Given the description of an element on the screen output the (x, y) to click on. 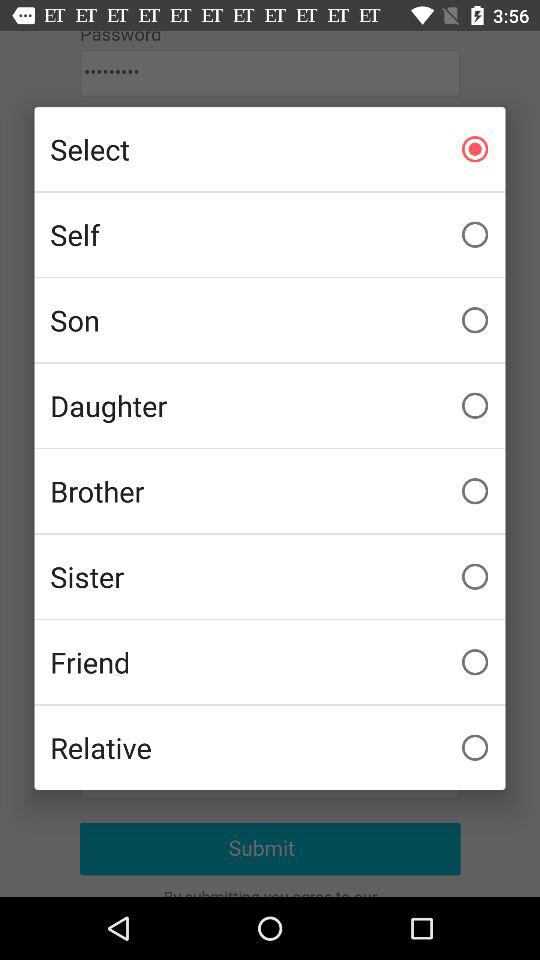
turn on item above the son icon (269, 234)
